Given the description of an element on the screen output the (x, y) to click on. 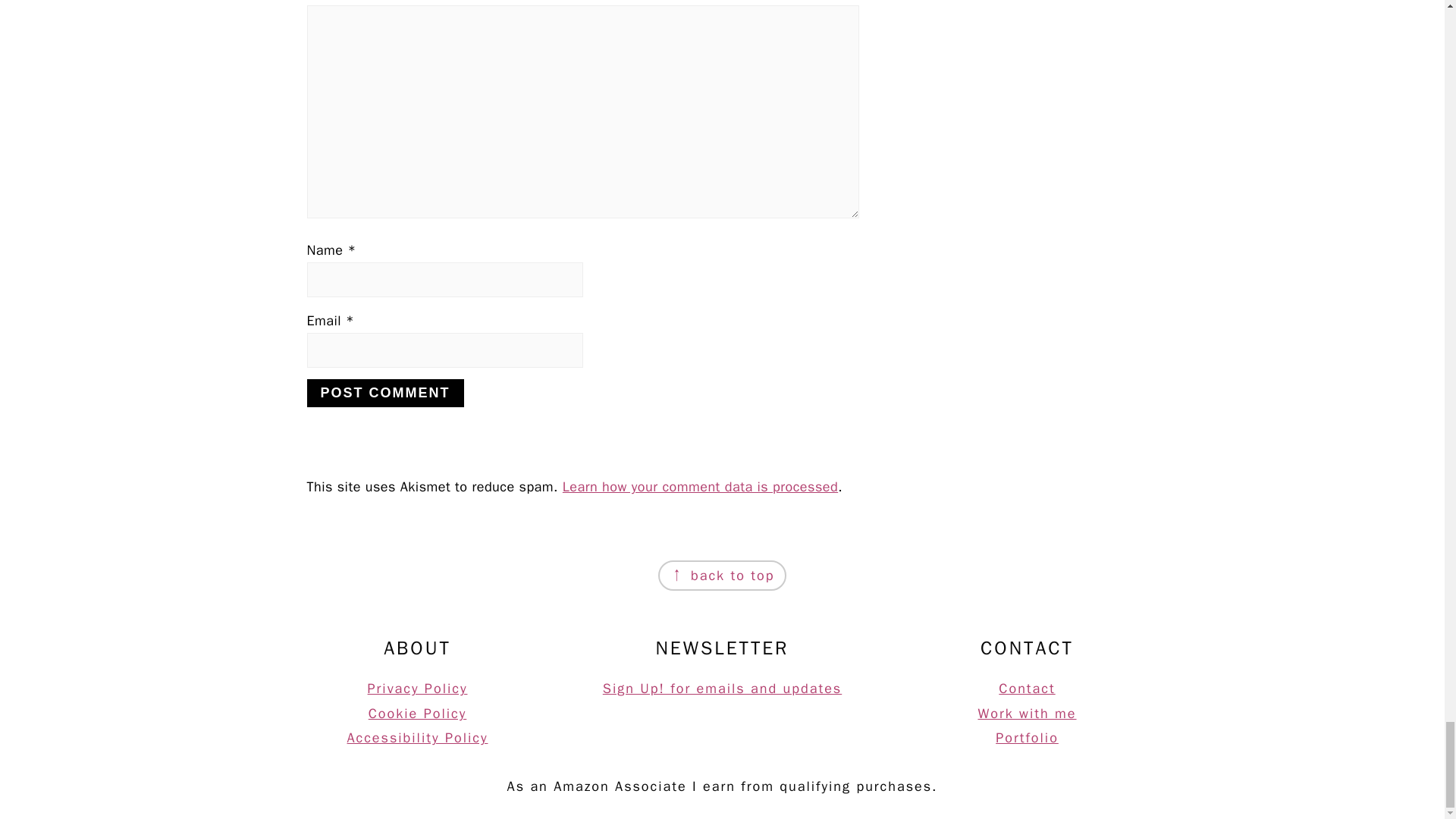
Post Comment (384, 393)
